Given the description of an element on the screen output the (x, y) to click on. 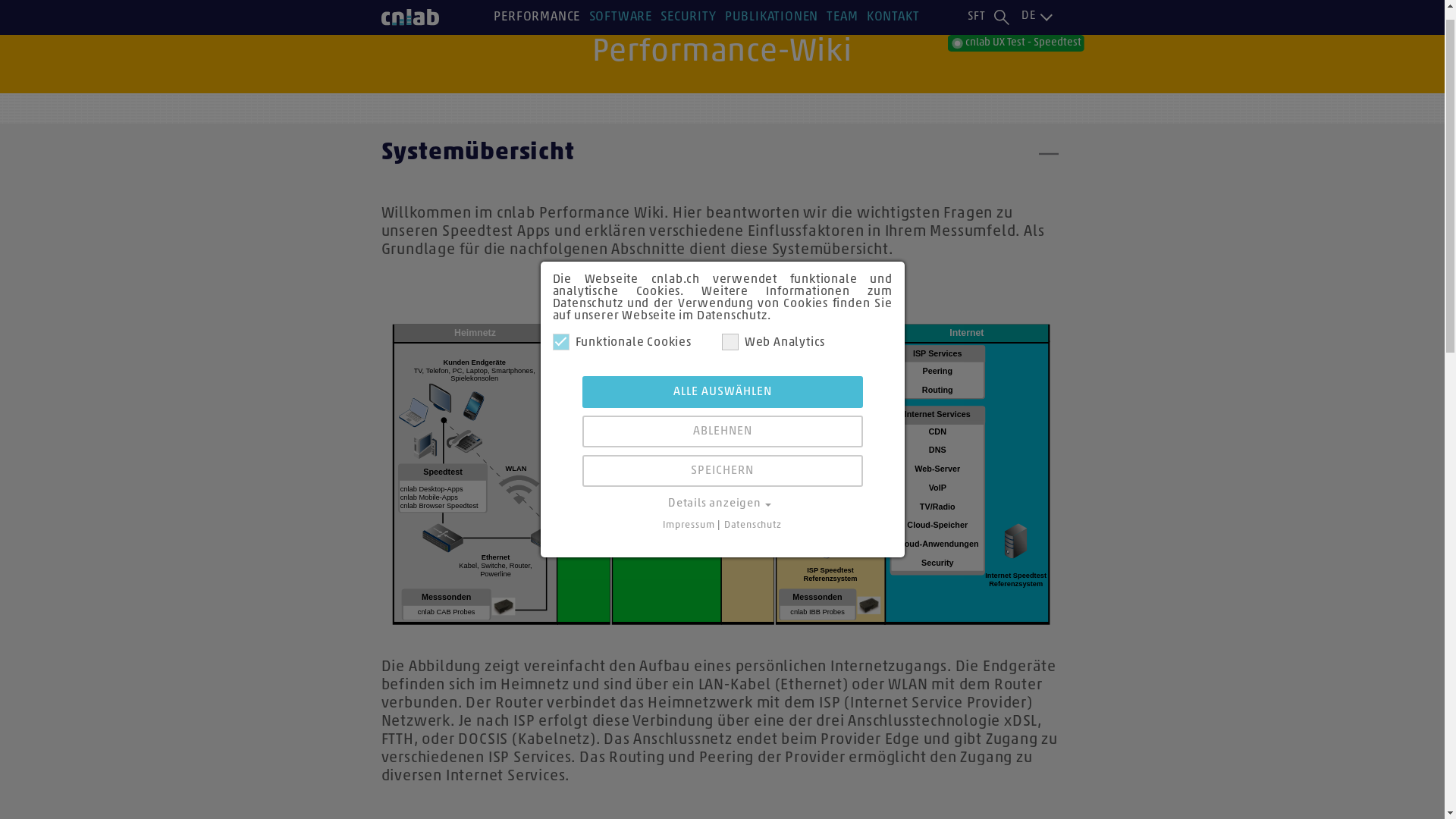
PERFORMANCE Element type: text (536, 39)
cnlab UX Test - Speedtest Element type: text (1015, 65)
SECURITY Element type: text (687, 39)
SFT Element type: text (976, 39)
TEAM Element type: text (841, 39)
SPEICHERN Element type: text (722, 492)
SOFTWARE Element type: text (620, 39)
KONTAKT Element type: text (892, 39)
Impressum Element type: text (688, 547)
Details anzeigen Element type: text (721, 525)
Datenschutz Element type: text (752, 547)
ABLEHNEN Element type: text (722, 453)
PUBLIKATIONEN Element type: text (771, 39)
